Given the description of an element on the screen output the (x, y) to click on. 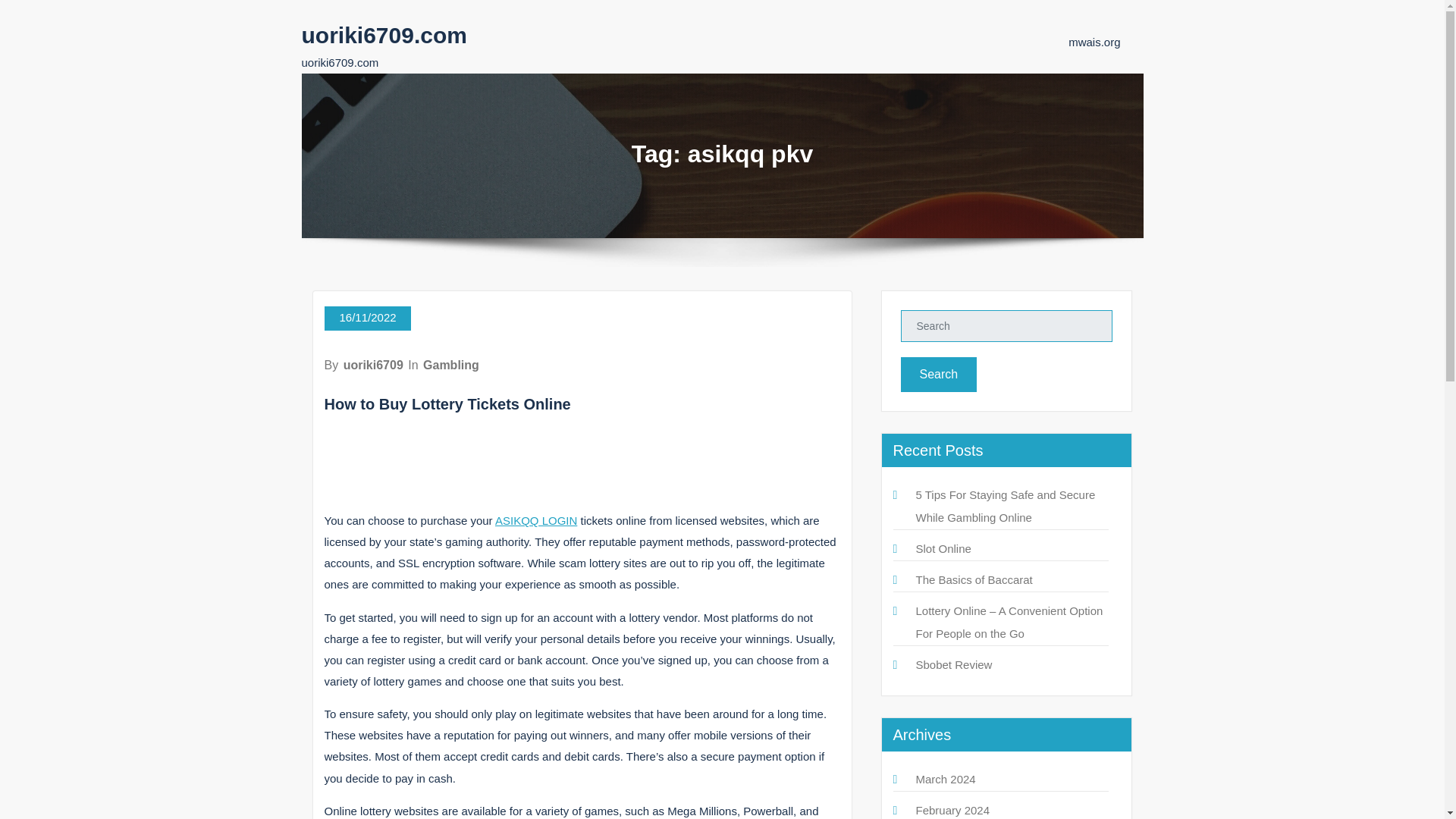
Search (938, 374)
March 2024 (945, 779)
Slot Online (943, 548)
Sbobet Review (953, 664)
Gambling (451, 364)
mwais.org (1093, 41)
The Basics of Baccarat (973, 579)
5 Tips For Staying Safe and Secure While Gambling Online (1005, 506)
ASIKQQ LOGIN (535, 520)
February 2024 (952, 809)
How to Buy Lottery Tickets Online (447, 403)
uoriki6709 (373, 364)
uoriki6709.com (384, 34)
